Given the description of an element on the screen output the (x, y) to click on. 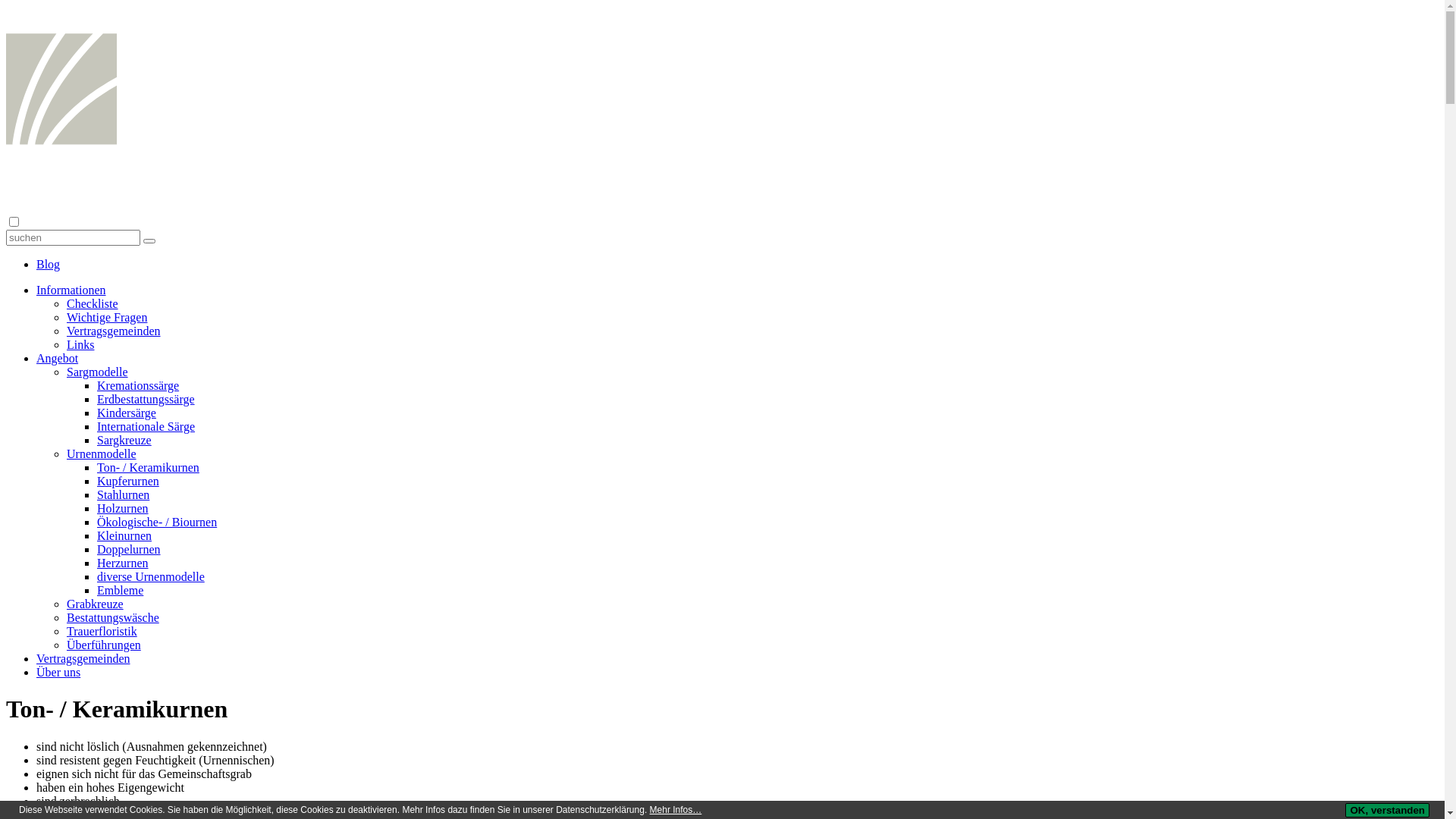
diverse Urnenmodelle Element type: text (150, 576)
Stahlurnen Element type: text (123, 494)
Kleinurnen Element type: text (124, 535)
Urnenmodelle Element type: text (101, 453)
Seiten durchsuchen Element type: hover (149, 240)
Trauerfloristik Element type: text (101, 630)
Herzurnen Element type: text (122, 562)
Informationen Element type: text (71, 289)
Checkliste Element type: text (92, 303)
Kupferurnen Element type: text (128, 480)
Sargmodelle Element type: text (97, 371)
Holzurnen Element type: text (122, 508)
Blog Element type: text (47, 263)
Links Element type: text (80, 344)
Sargkreuze Element type: text (124, 439)
Home Element type: hover (302, 206)
Wichtige Fragen Element type: text (106, 316)
Angebot Element type: text (57, 357)
Grabkreuze Element type: text (94, 603)
Embleme Element type: text (120, 589)
Vertragsgemeinden Element type: text (83, 658)
Vertragsgemeinden Element type: text (113, 330)
Doppelurnen Element type: text (128, 548)
Ton- / Keramikurnen Element type: text (148, 467)
